Given the description of an element on the screen output the (x, y) to click on. 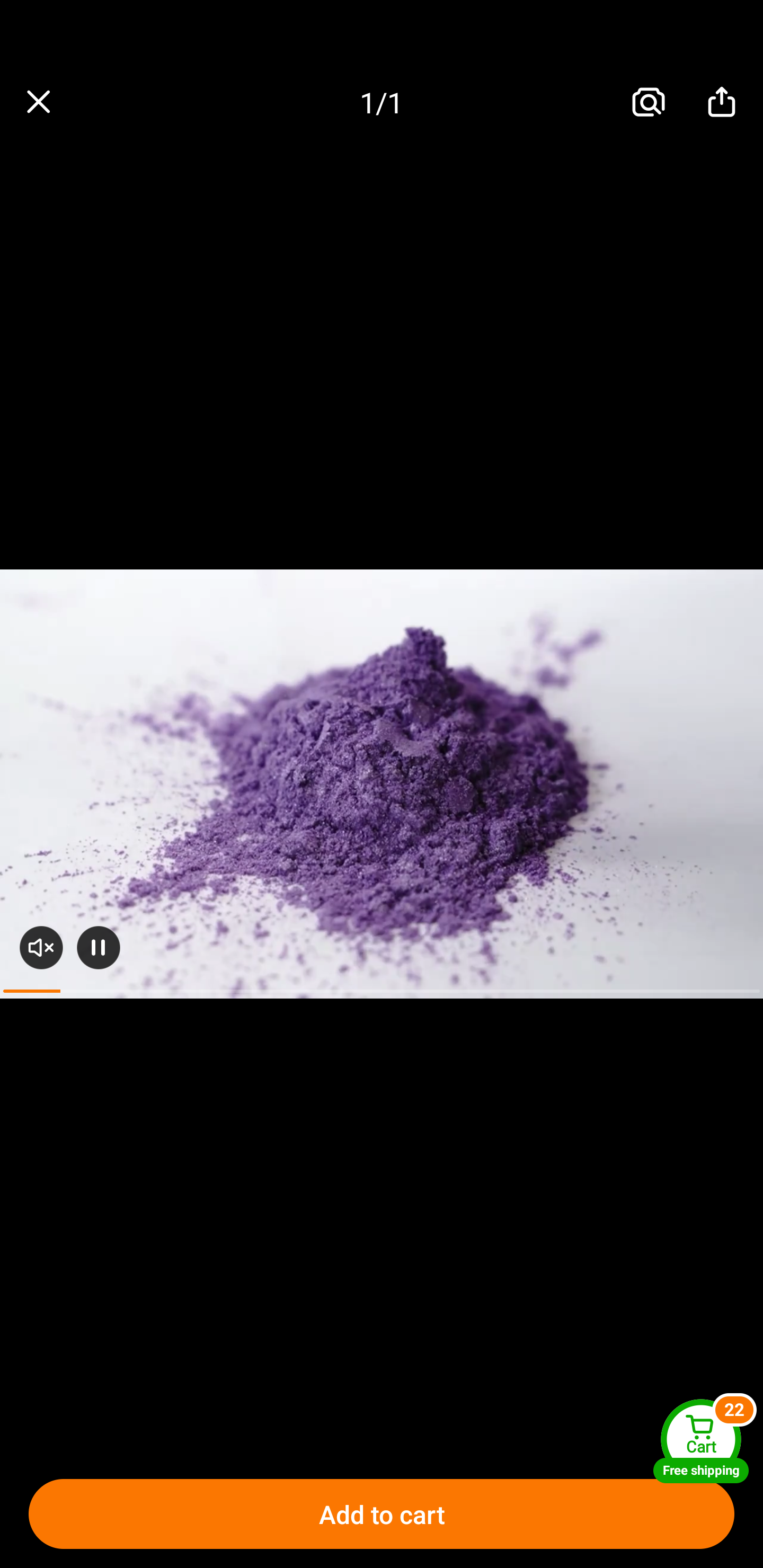
tronplayer_view (381, 783)
Cart Free shipping Cart (701, 1440)
Add to cart (381, 1513)
